Given the description of an element on the screen output the (x, y) to click on. 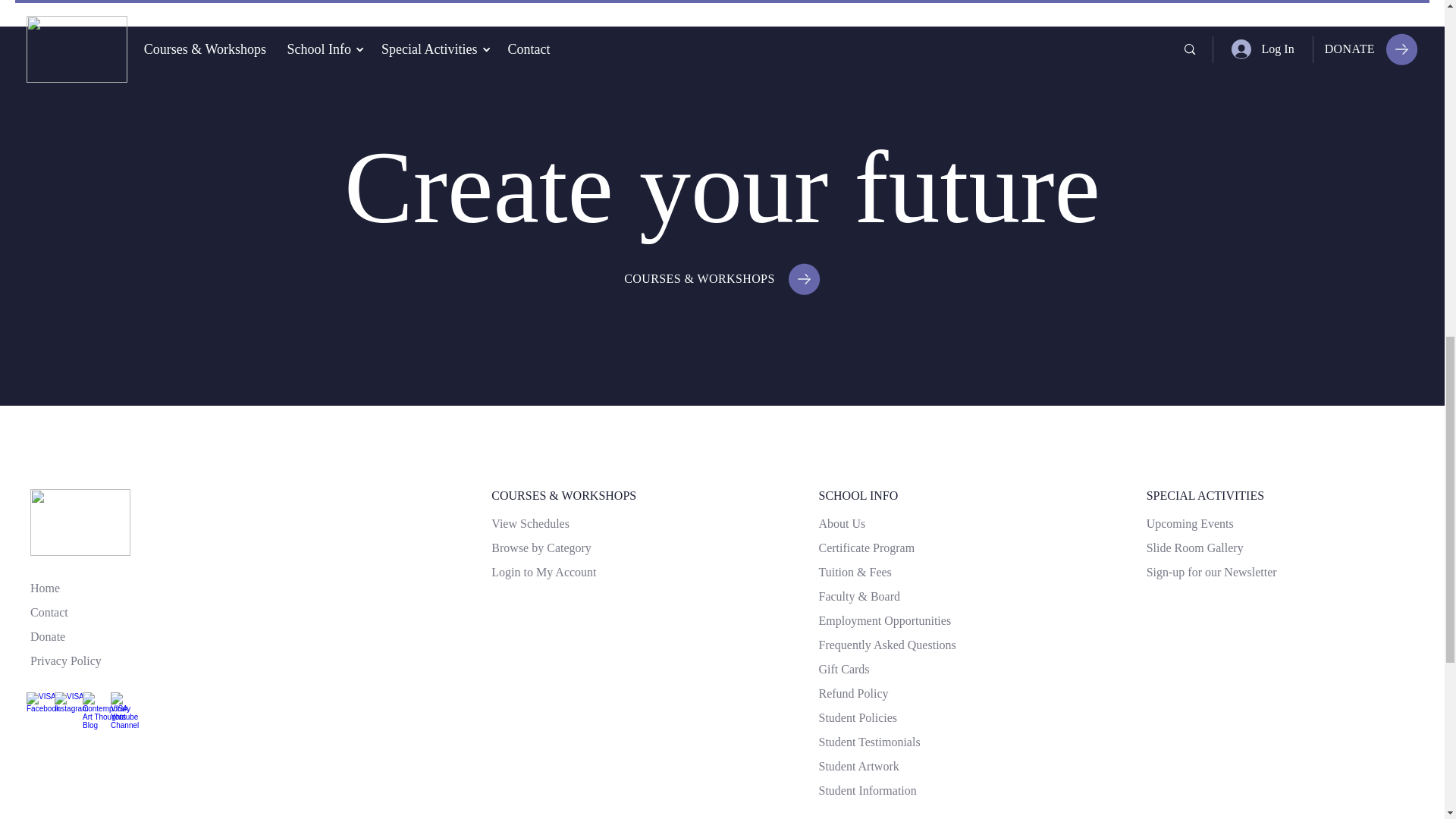
Student Policies (857, 718)
Frequently Asked Questions (886, 645)
Login to My Account (543, 572)
Certificate Program (866, 547)
About Us (841, 523)
Privacy Policy (65, 660)
Upcoming Events (1190, 523)
Employment Opportunities (884, 620)
Slide Room Gallery (1195, 547)
Student Artwork (858, 766)
